Given the description of an element on the screen output the (x, y) to click on. 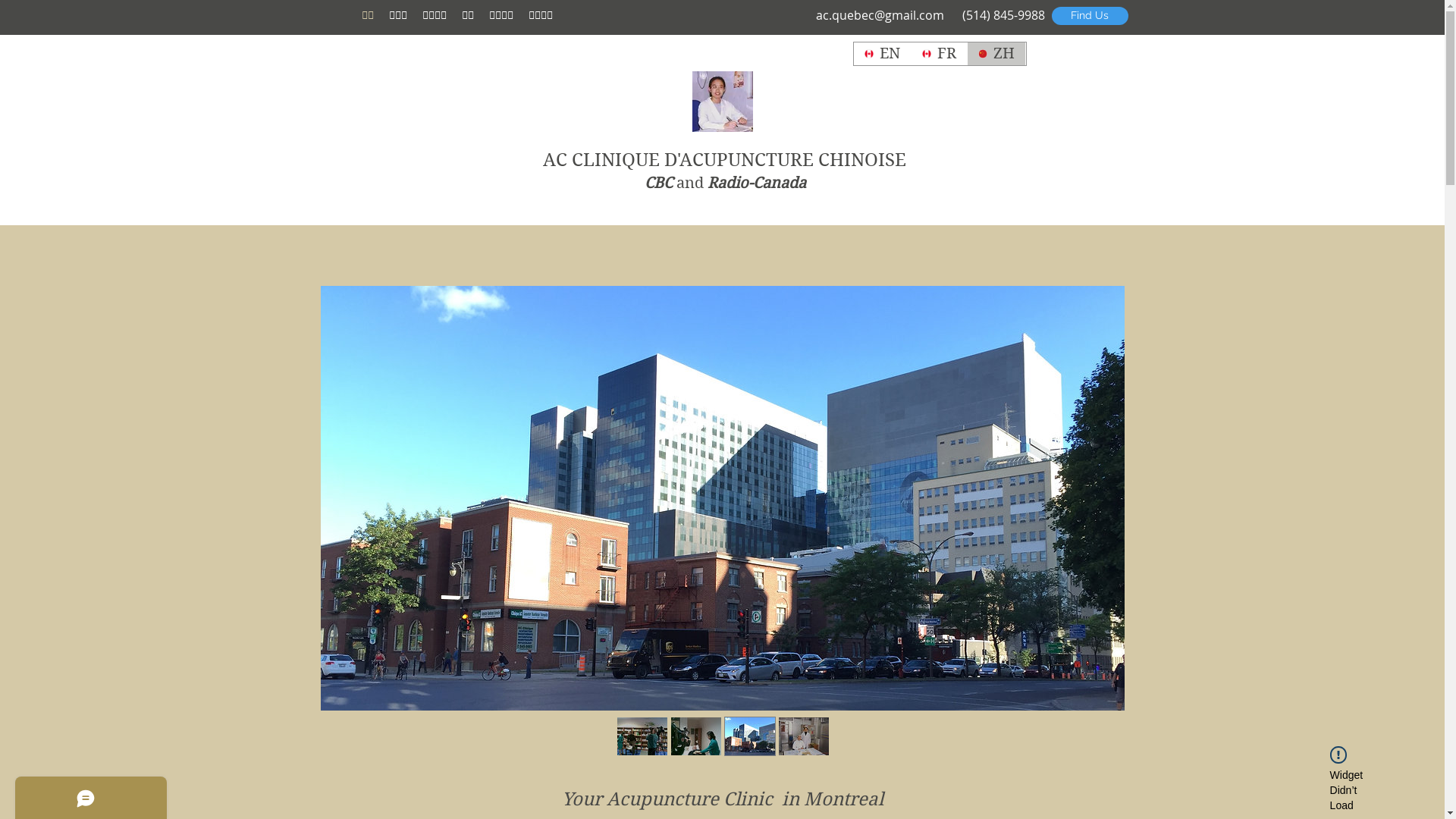
ac.quebec@gmail.com Element type: text (879, 14)
EN Element type: text (881, 53)
FR Element type: text (938, 53)
ZH Element type: text (995, 53)
Find Us Element type: text (1089, 15)
